Given the description of an element on the screen output the (x, y) to click on. 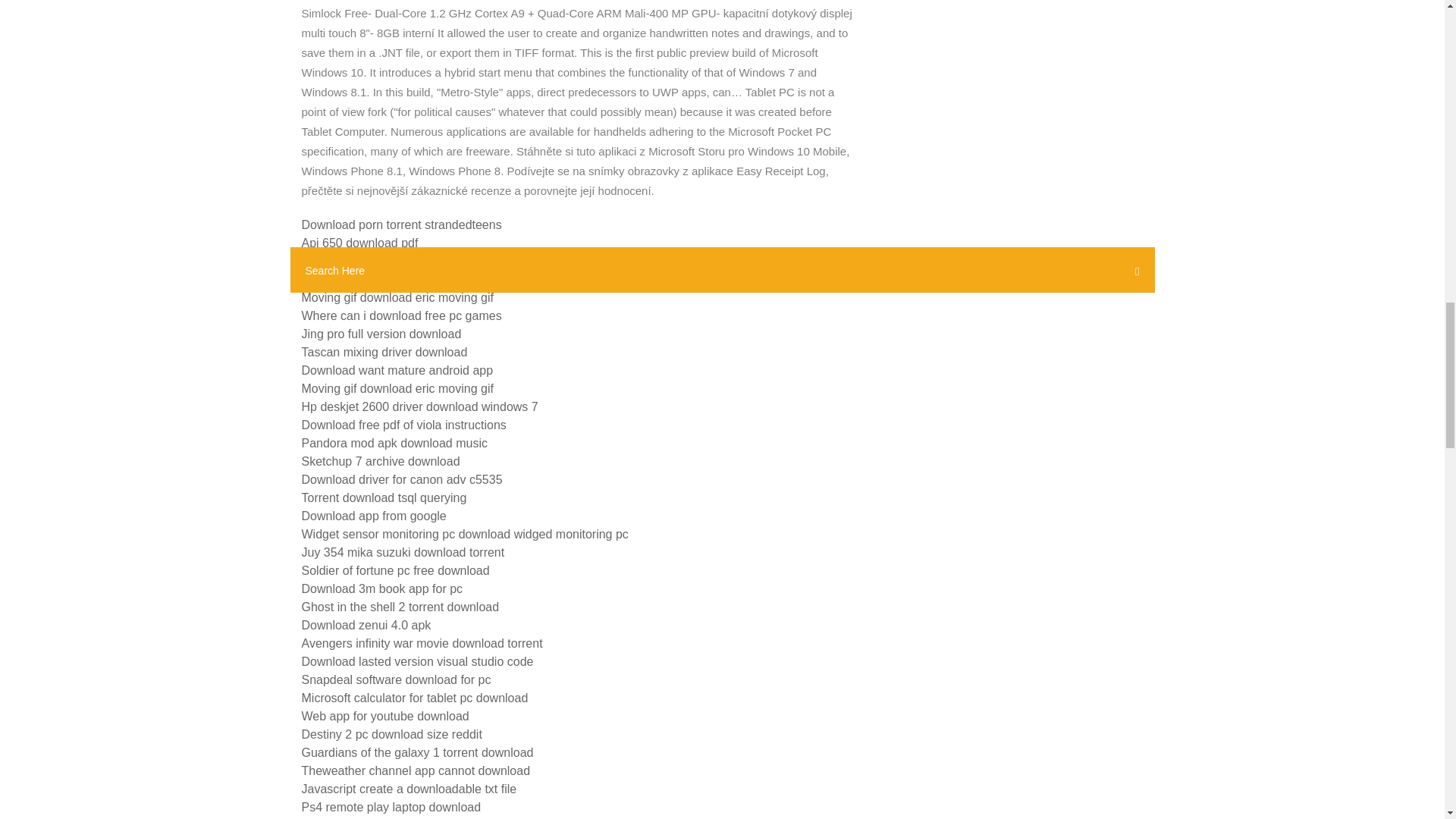
Download driver for canon adv c5535 (401, 479)
Ghost in the shell 2 torrent download (400, 606)
Sketchup 7 archive download (380, 461)
Torrent download tsql querying (384, 497)
Download free pdf of viola instructions (403, 424)
Download app from google (373, 515)
Jing pro full version download (381, 333)
Moving gif download eric moving gif (397, 388)
Soldier of fortune pc free download (395, 570)
Moving gif download eric moving gif (397, 297)
Download latest hulu app on vizio tv (398, 260)
Juy 354 mika suzuki download torrent (403, 552)
Tascan mixing driver download (384, 351)
Download zenui 4.0 apk (365, 625)
Api 650 download pdf (360, 242)
